Given the description of an element on the screen output the (x, y) to click on. 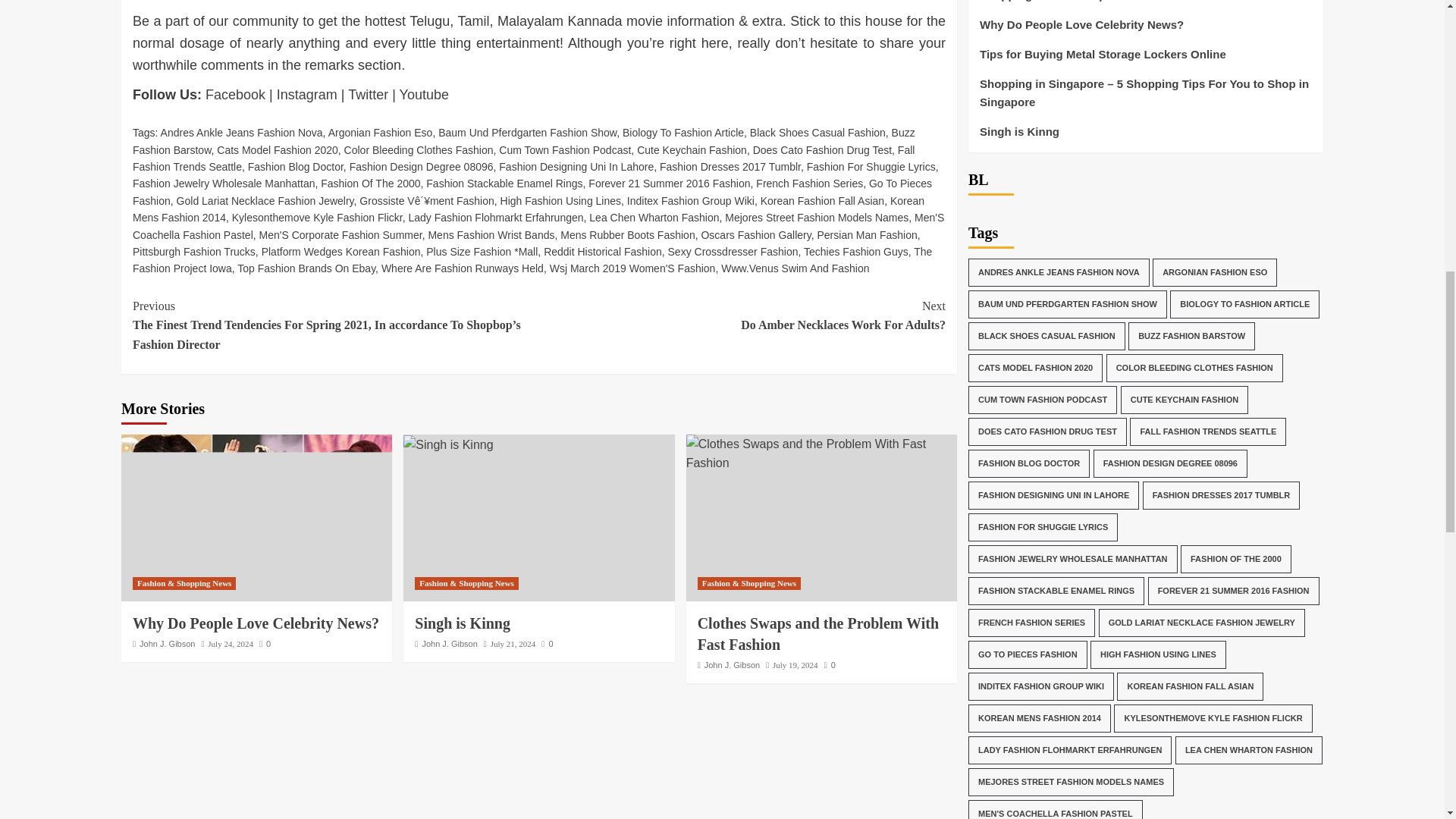
Andres Ankle Jeans Fashion Nova (241, 132)
Clothes Swaps and the Problem With Fast Fashion (820, 453)
Black Shoes Casual Fashion (817, 132)
Twitter (367, 94)
Fashion Designing Uni In Lahore (576, 166)
Fashion Design Degree 08096 (421, 166)
Color Bleeding Clothes Fashion (418, 150)
Fashion Blog Doctor (295, 166)
Biology To Fashion Article (683, 132)
Does Cato Fashion Drug Test (821, 150)
Youtube (423, 94)
Argonian Fashion Eso (380, 132)
Cats Model Fashion 2020 (276, 150)
Facebook (234, 94)
Singh is Kinng (448, 444)
